Given the description of an element on the screen output the (x, y) to click on. 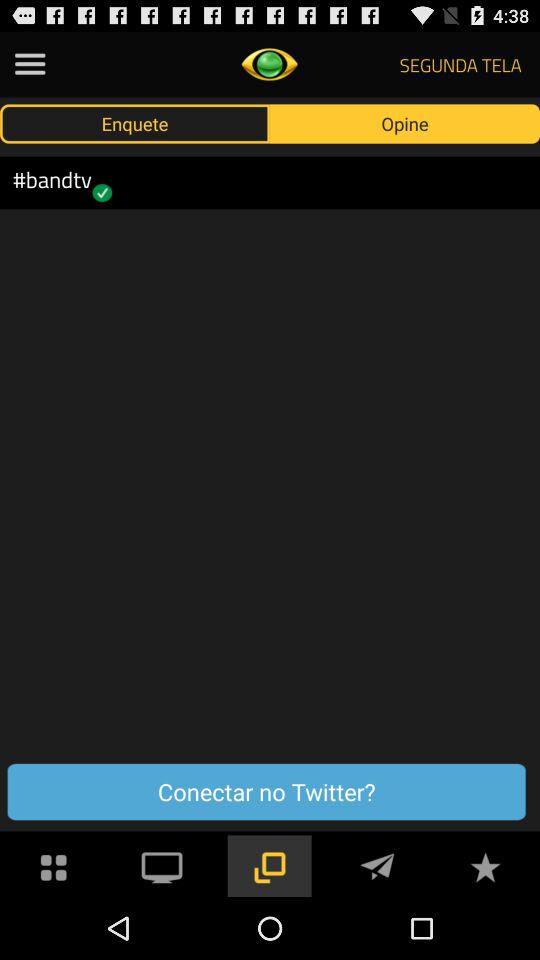
button for favorites (485, 865)
